Given the description of an element on the screen output the (x, y) to click on. 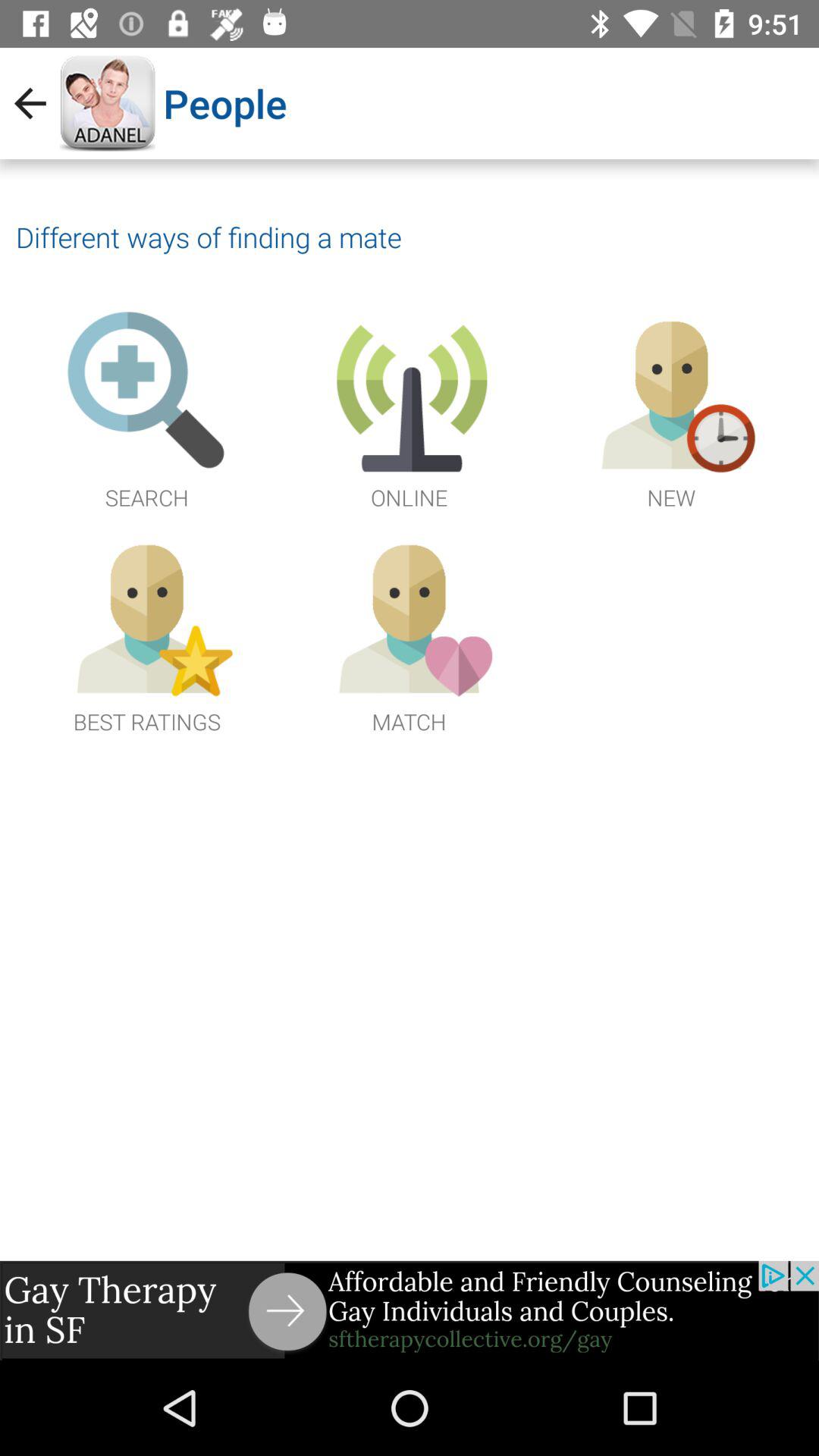
check matches (409, 634)
